Given the description of an element on the screen output the (x, y) to click on. 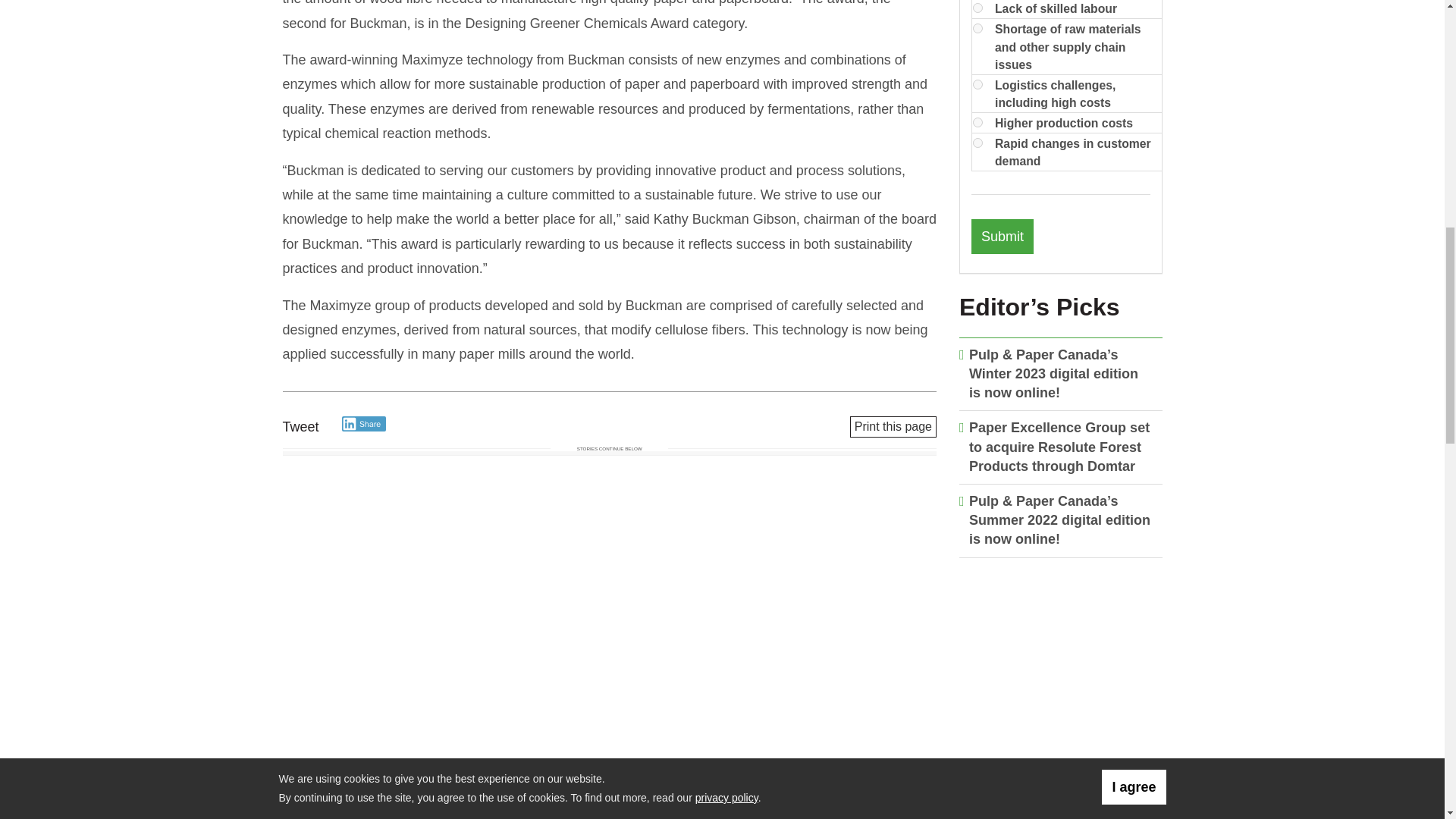
gpoll14aa2f88e (977, 8)
gpoll19b437764 (977, 143)
3rd party ad content (1060, 667)
gpoll1db2c9877 (977, 122)
Submit (1002, 236)
gpoll1174047cc (977, 84)
gpoll139686856 (977, 28)
